Given the description of an element on the screen output the (x, y) to click on. 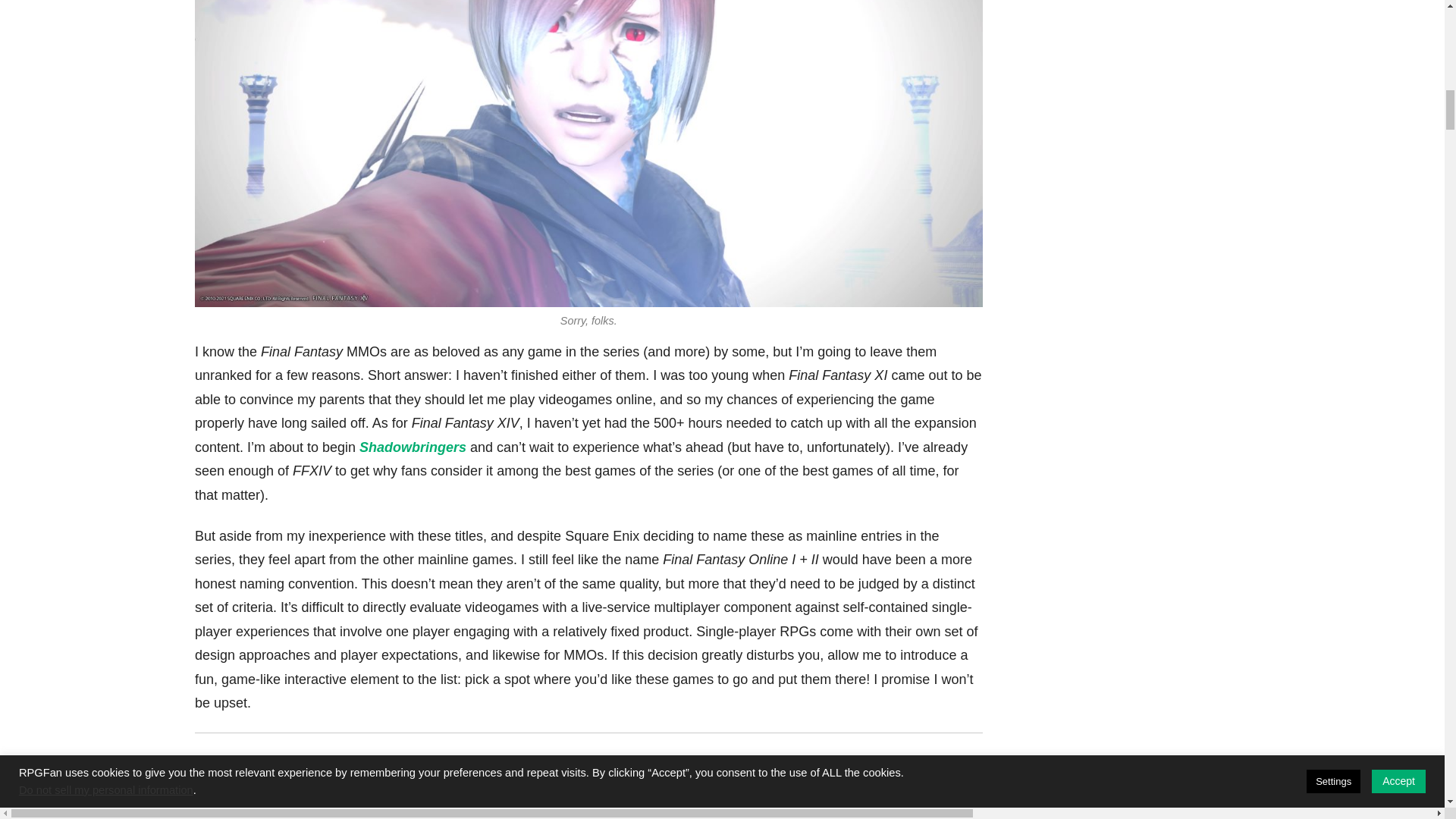
Shadowbringers (412, 447)
